Given the description of an element on the screen output the (x, y) to click on. 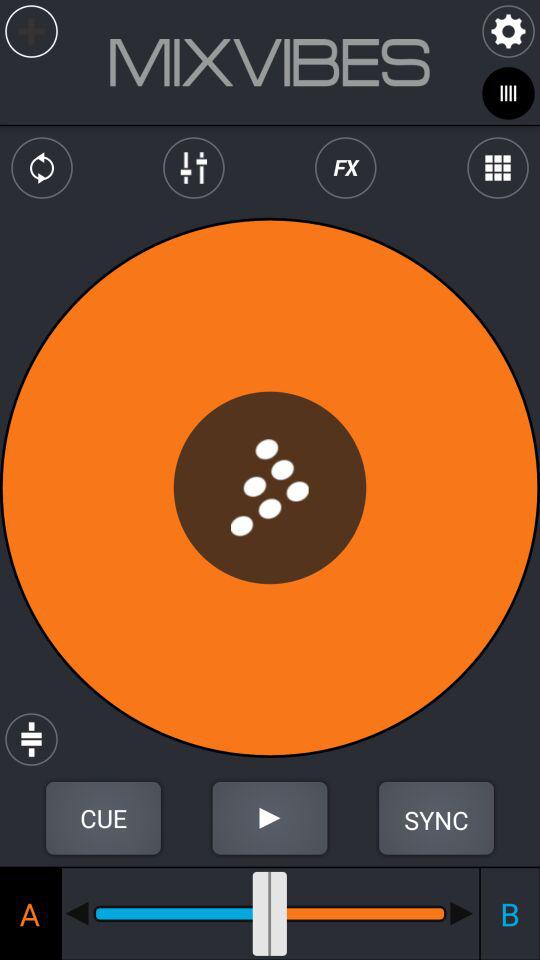
go back towards the beginning (77, 913)
